Given the description of an element on the screen output the (x, y) to click on. 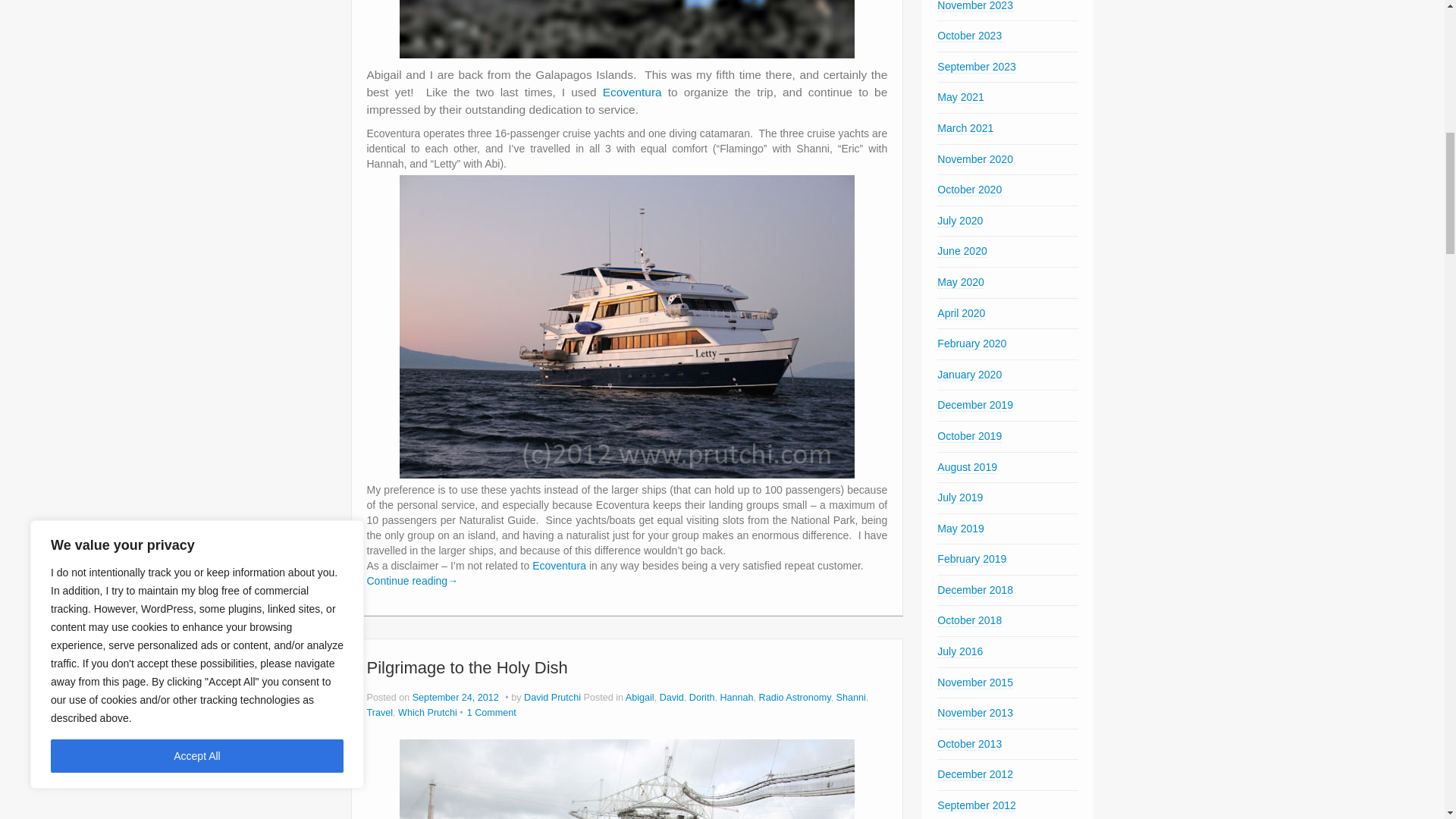
Ecoventura (635, 91)
Permalink to Pilgrimage to the Holy Dish (466, 667)
View all posts by David Prutchi (552, 697)
7:50 pm (457, 697)
Ecoventura (635, 91)
Ecoventura (560, 565)
